Given the description of an element on the screen output the (x, y) to click on. 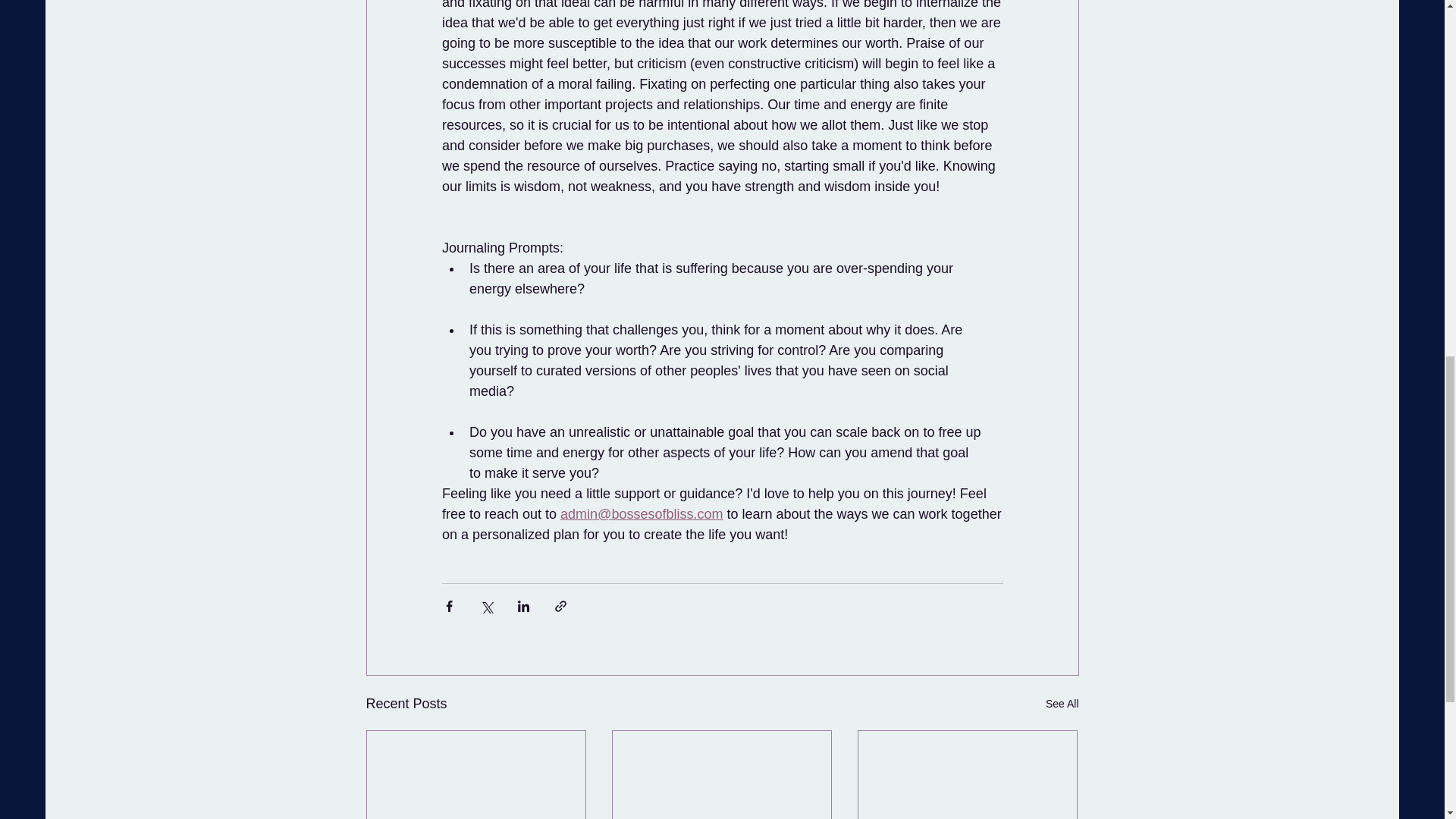
See All (1061, 703)
